Given the description of an element on the screen output the (x, y) to click on. 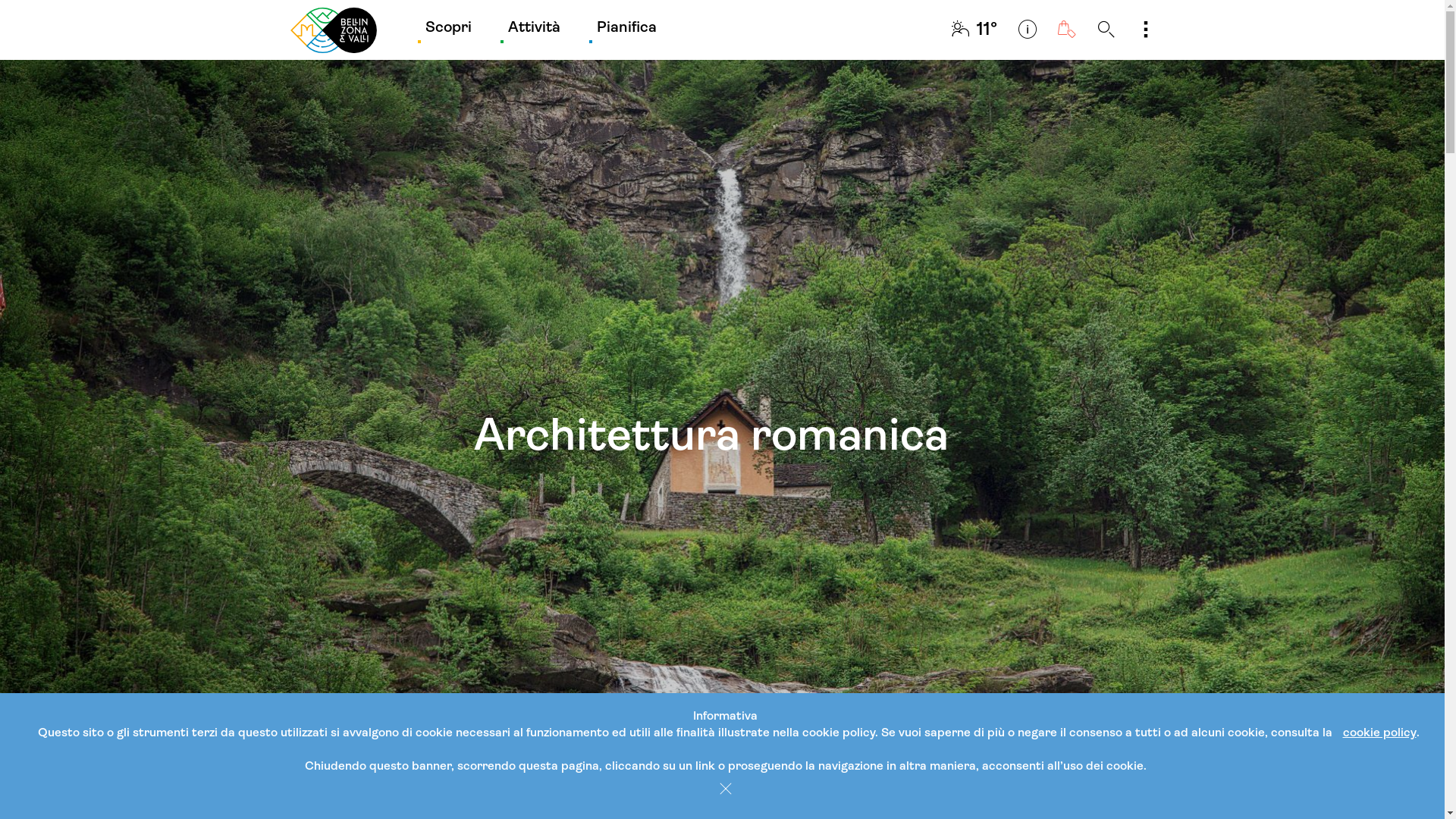
cookie policy Element type: text (1378, 732)
Info Element type: hover (1026, 30)
Pianifica Element type: text (625, 30)
bellinzonaevalli.ch Element type: hover (332, 30)
Scopri Element type: text (447, 30)
Shop Element type: hover (1066, 30)
Search Element type: hover (1105, 30)
